Given the description of an element on the screen output the (x, y) to click on. 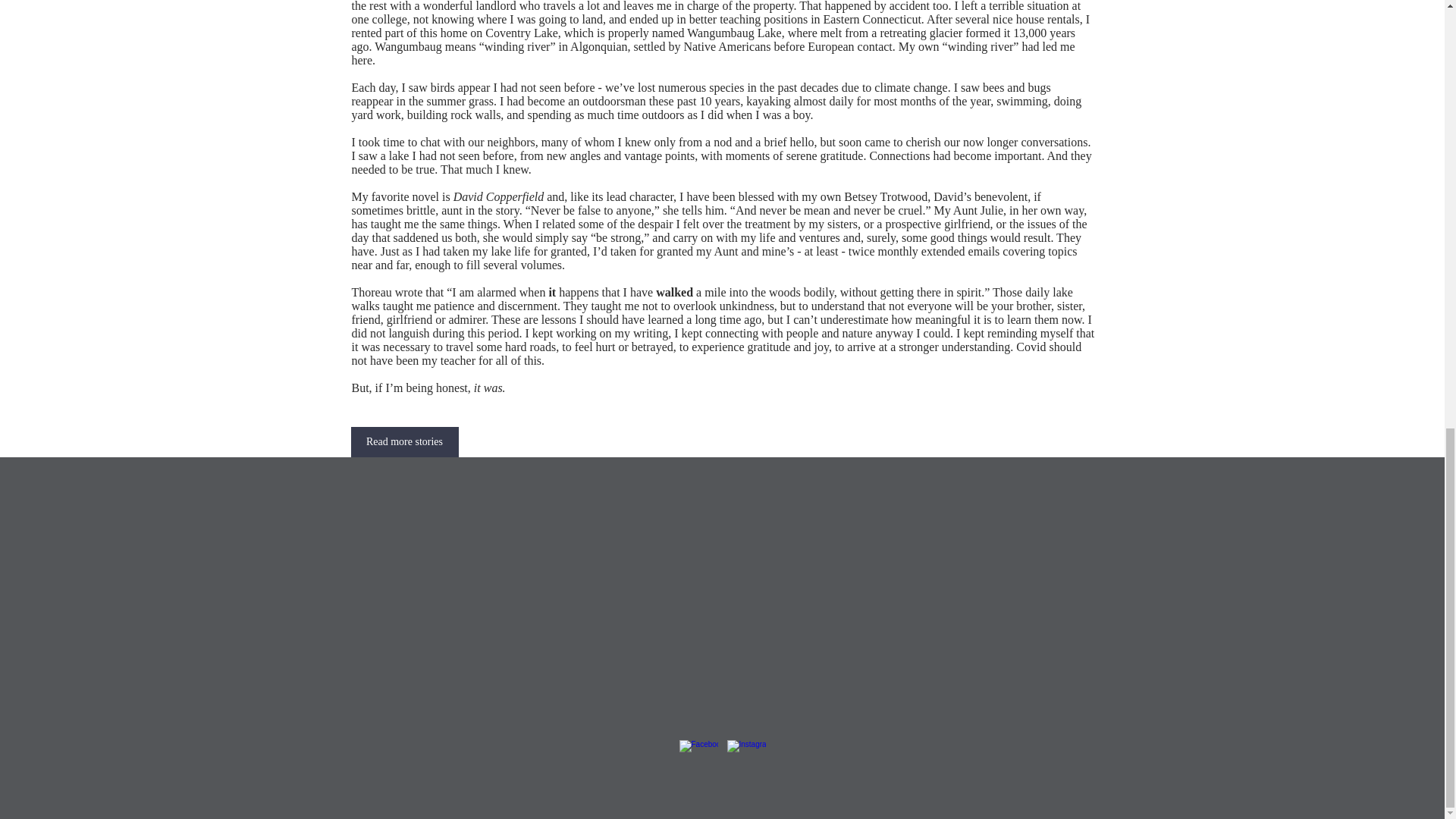
Read more stories (404, 441)
